Given the description of an element on the screen output the (x, y) to click on. 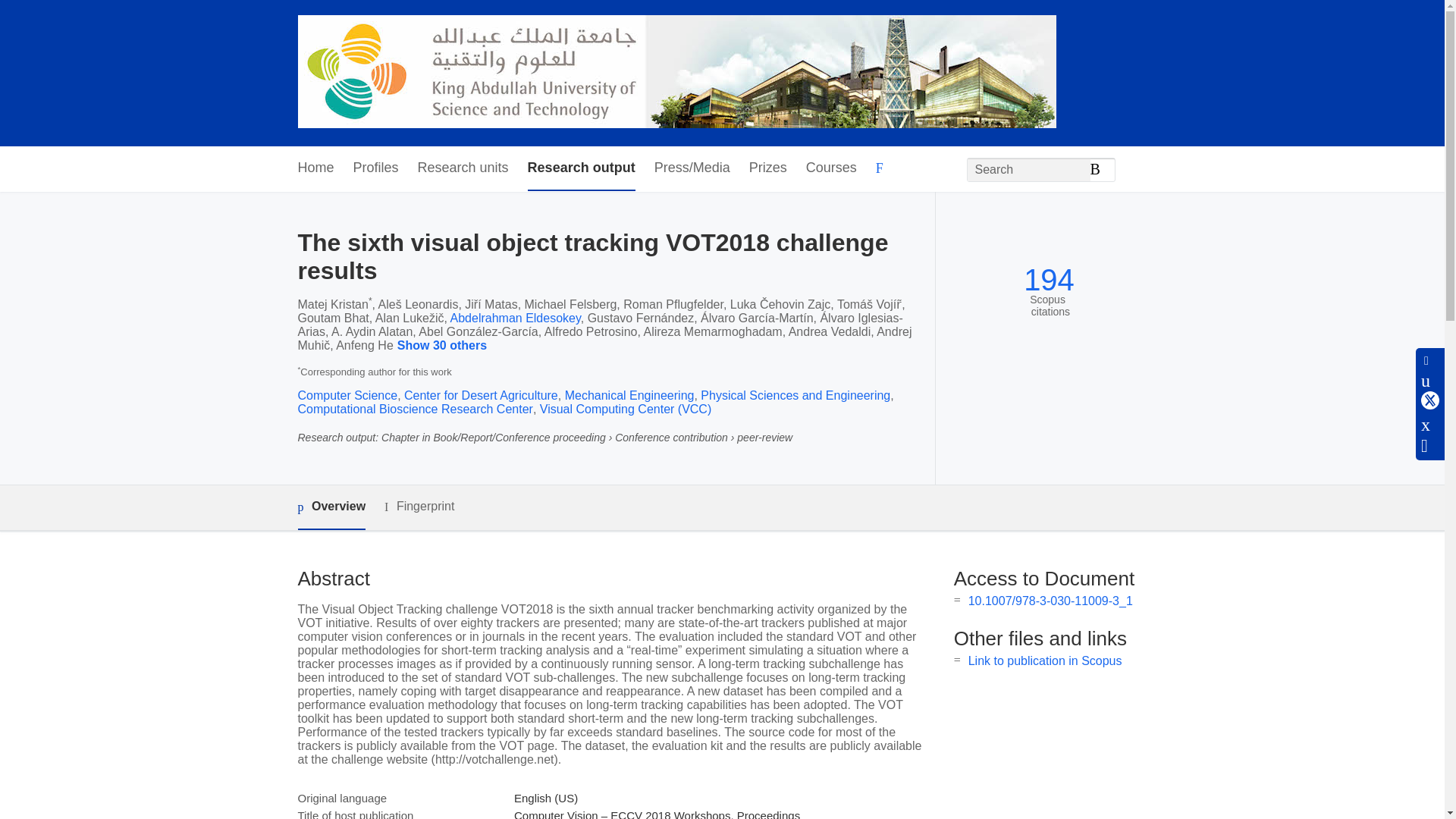
Overview (331, 507)
Profiles (375, 168)
Center for Desert Agriculture (480, 395)
Mechanical Engineering (629, 395)
Courses (831, 168)
Physical Sciences and Engineering (794, 395)
Computational Bioscience Research Center (414, 408)
Research units (462, 168)
Research output (580, 168)
KAUST PORTAL FOR RESEARCHERS AND STUDENTS Home (676, 73)
